Given the description of an element on the screen output the (x, y) to click on. 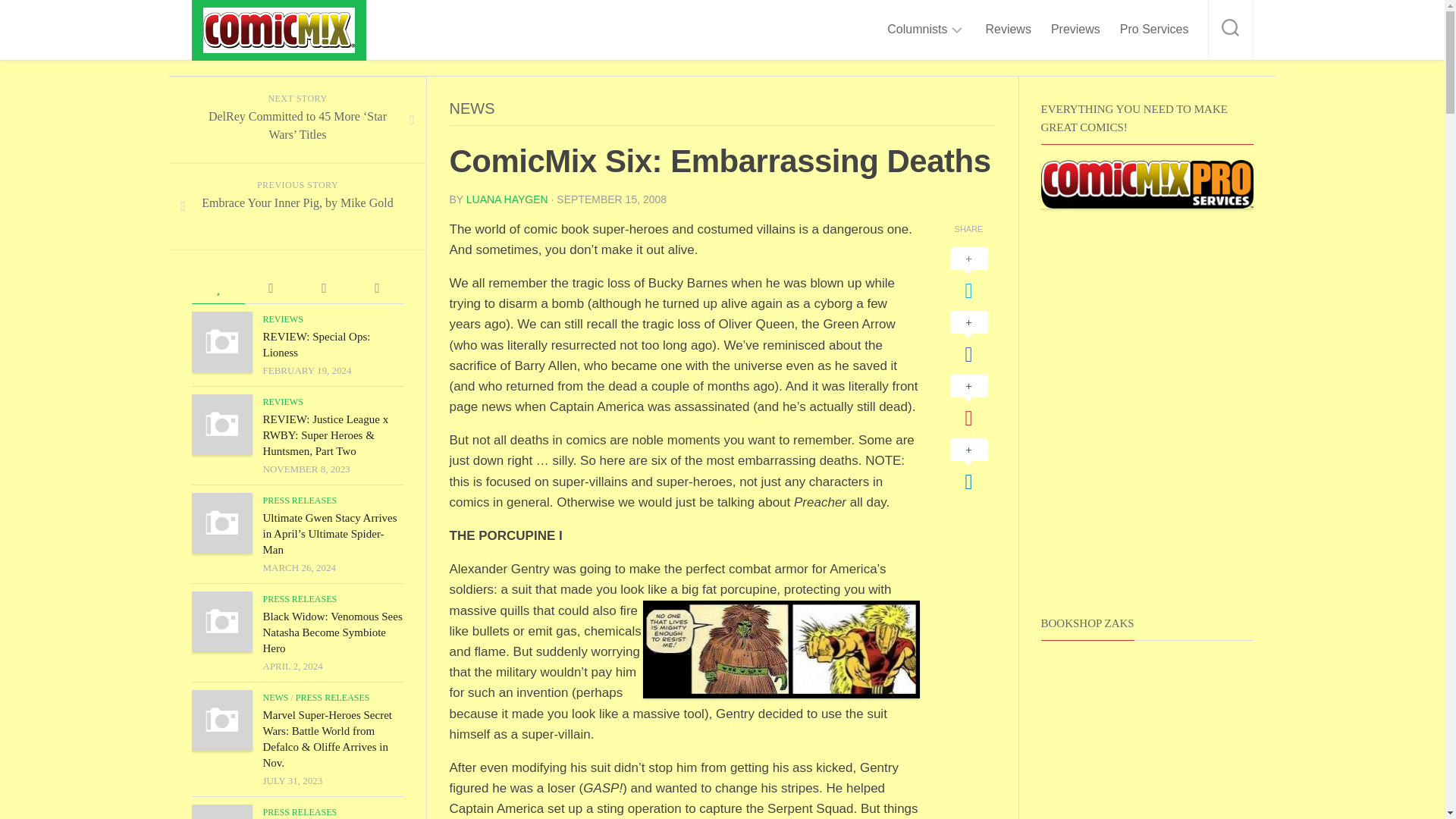
Columnists (916, 29)
Previews (1075, 29)
Posts by Luana Haygen (506, 199)
Recent Comments (270, 287)
LUANA HAYGEN (506, 199)
Pro Services (1154, 29)
Popular Posts (217, 287)
Reviews (1007, 29)
NEWS (471, 108)
Recent Posts (323, 287)
Tags (376, 287)
